Given the description of an element on the screen output the (x, y) to click on. 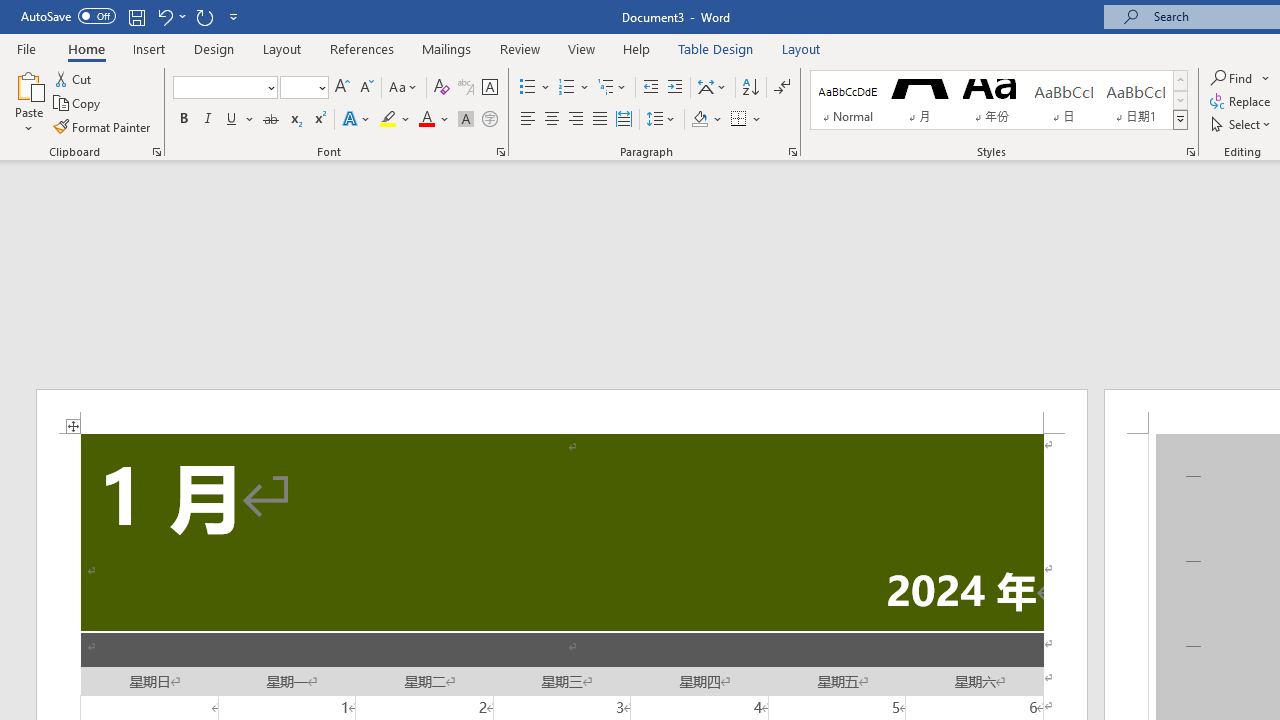
AutomationID: QuickStylesGallery (999, 99)
Font... (500, 151)
Text Highlight Color Yellow (388, 119)
Character Shading (465, 119)
Shrink Font (365, 87)
Distributed (623, 119)
